Given the description of an element on the screen output the (x, y) to click on. 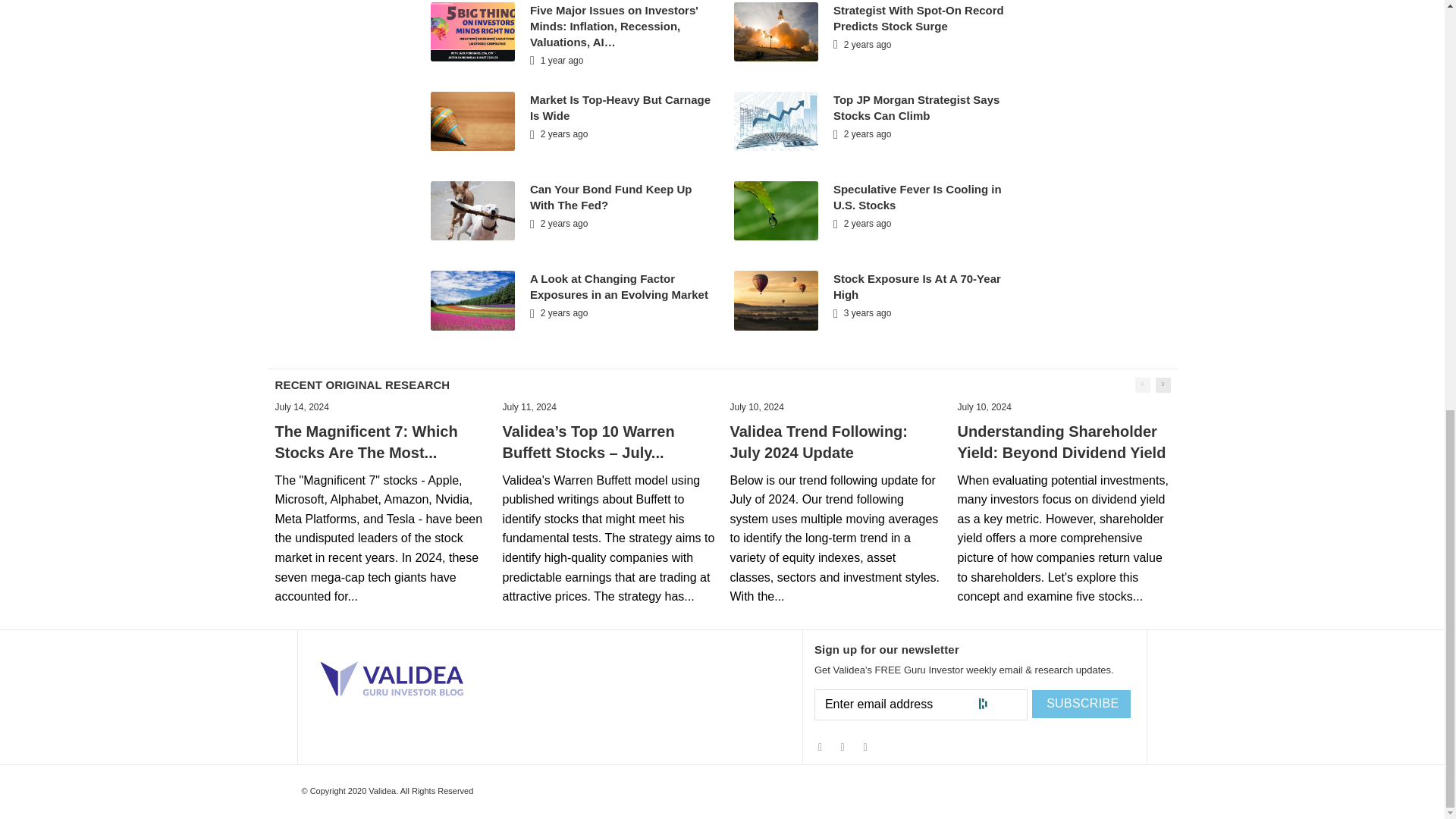
Stock Exposure Is At A 70-Year High (916, 286)
2 years ago (558, 133)
Strategist With Spot-On Record Predicts Stock Surge (918, 18)
A Look at Changing Factor Exposures in an Evolving Market (618, 286)
2024-07-10T09:19:35-04:00 (756, 407)
2 years ago (558, 223)
Top JP Morgan Strategist Says Stocks Can Climb (916, 107)
2024-07-11T09:09:15-04:00 (529, 407)
2024-07-14T18:24:16-04:00 (302, 407)
Can Your Bond Fund Keep Up With The Fed? (611, 196)
Market Is Top-Heavy But Carnage Is Wide (619, 107)
2 years ago (861, 133)
Market Is Top-Heavy But Carnage Is Wide (619, 107)
2024-07-10T09:04:47-04:00 (983, 407)
